Given the description of an element on the screen output the (x, y) to click on. 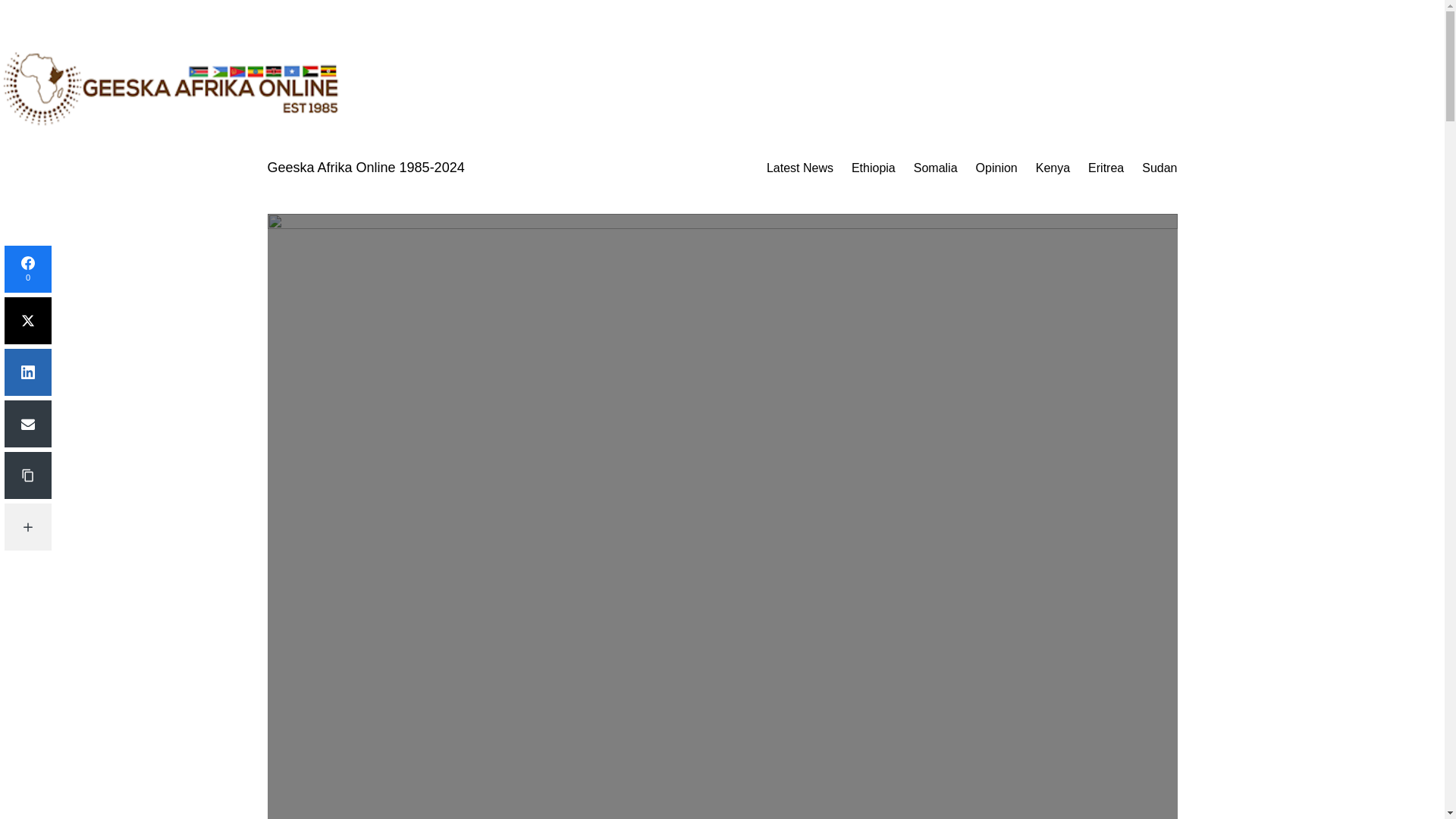
Eritrea (1105, 168)
Opinion (996, 168)
Somalia (936, 168)
Latest News (799, 168)
Ethiopia (873, 168)
0 (27, 268)
Sudan (1158, 168)
Geeska Afrika Online 1985-2024 (365, 167)
Kenya (1052, 168)
